Given the description of an element on the screen output the (x, y) to click on. 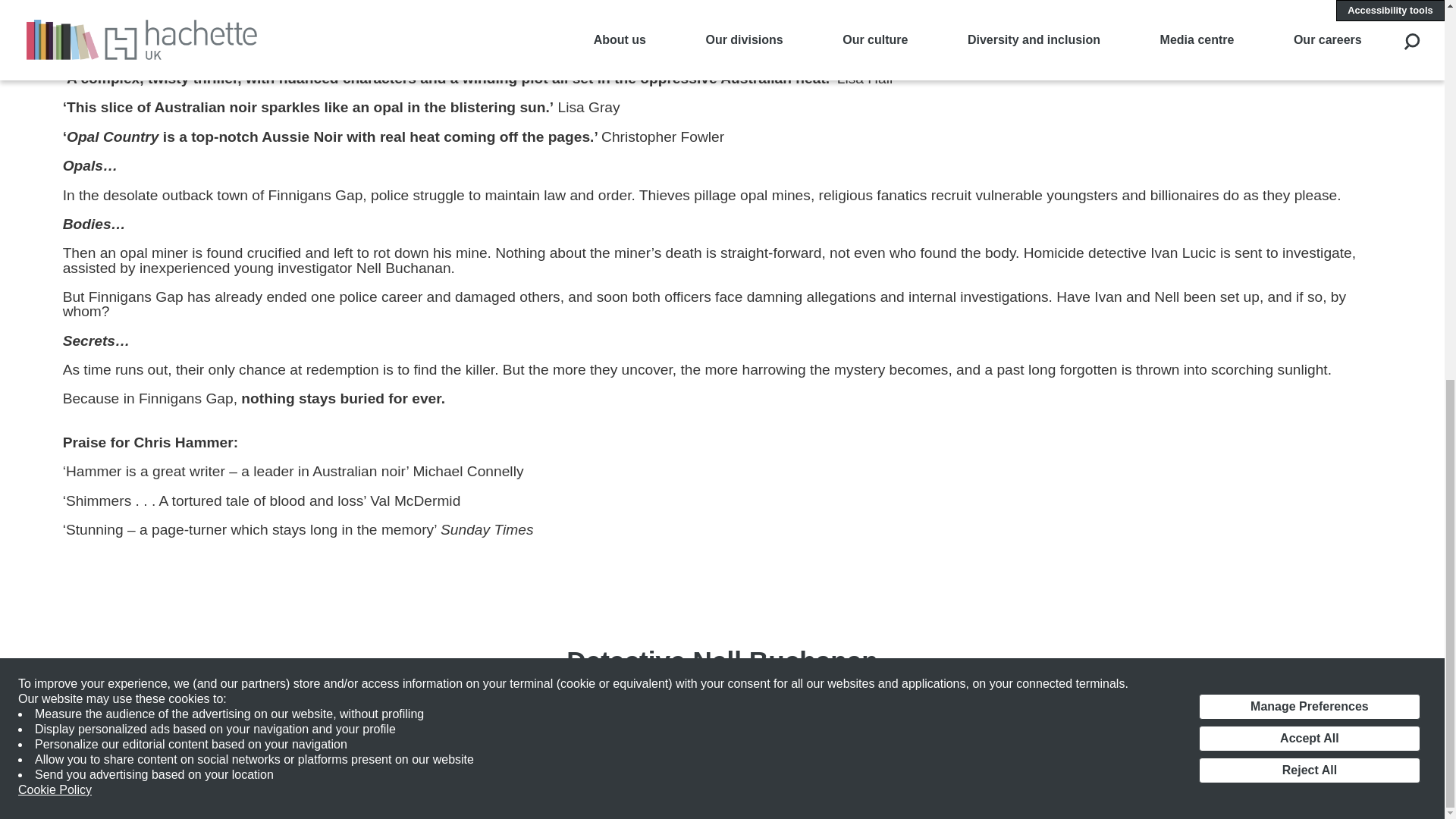
Cookie Policy (54, 83)
Reject All (1309, 63)
Manage Preferences (1309, 6)
Accept All (1309, 31)
